Given the description of an element on the screen output the (x, y) to click on. 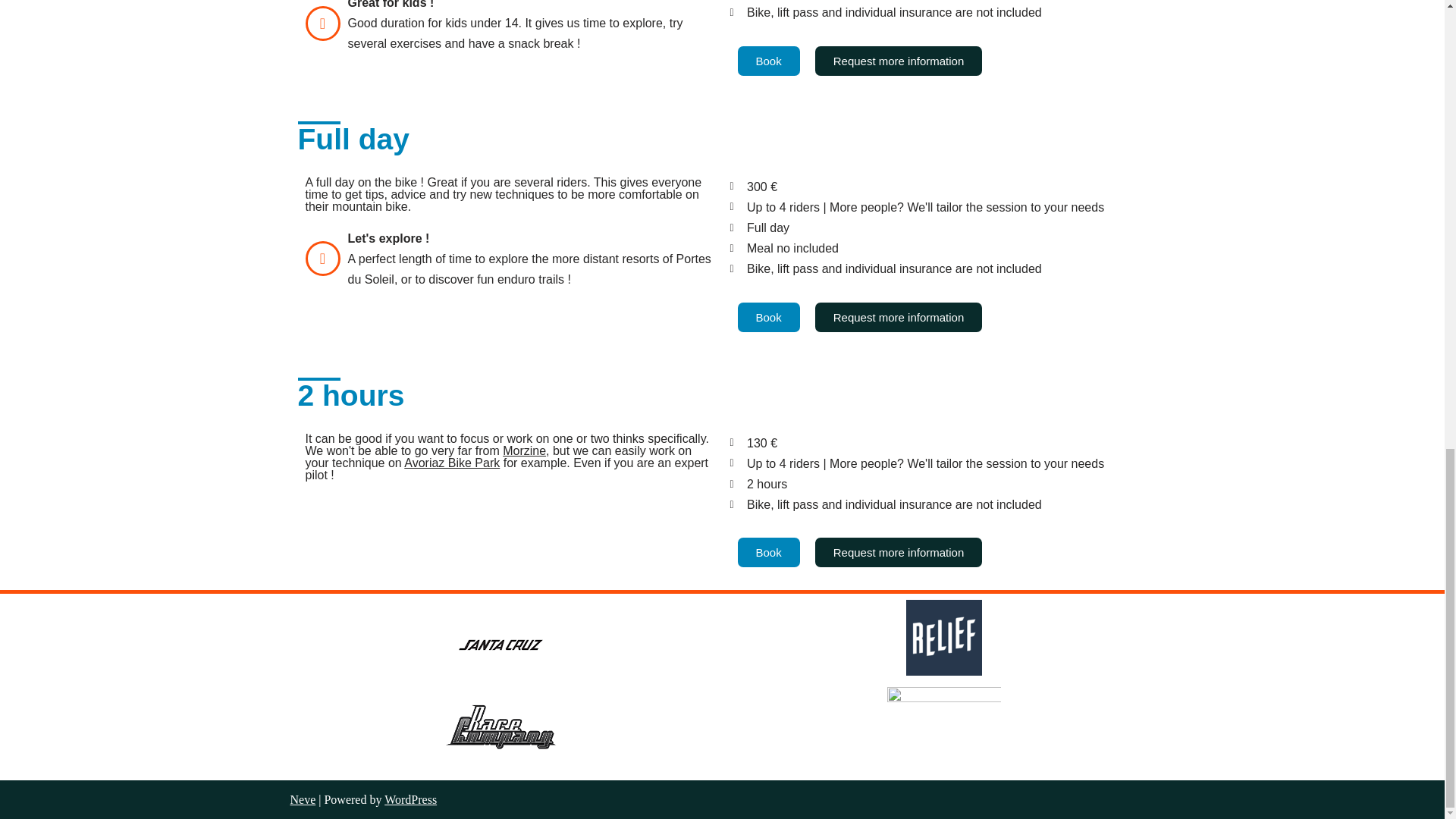
Book (767, 317)
Request more information (898, 60)
Book (767, 60)
Request more information (898, 317)
